Given the description of an element on the screen output the (x, y) to click on. 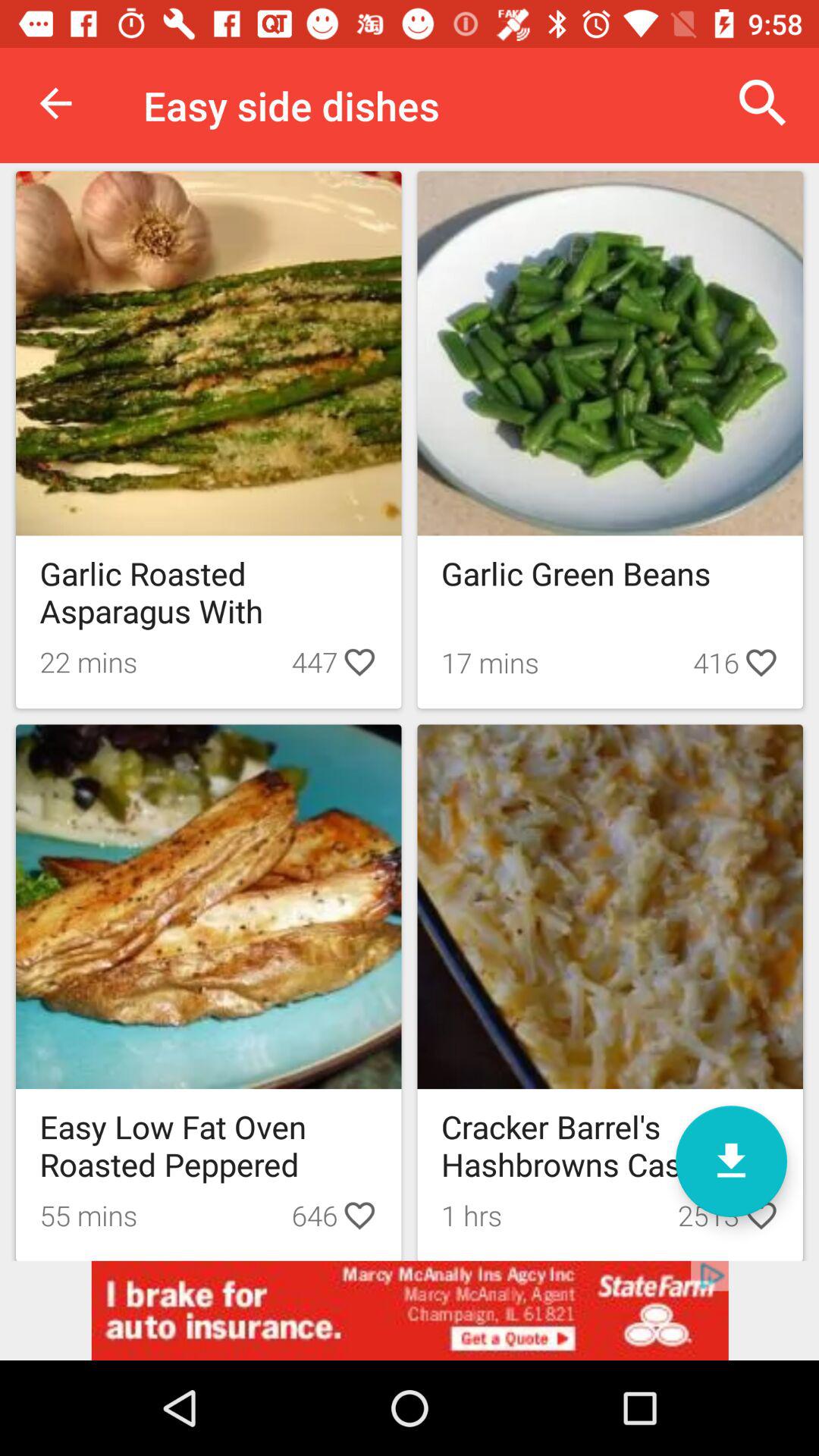
download (731, 1161)
